Given the description of an element on the screen output the (x, y) to click on. 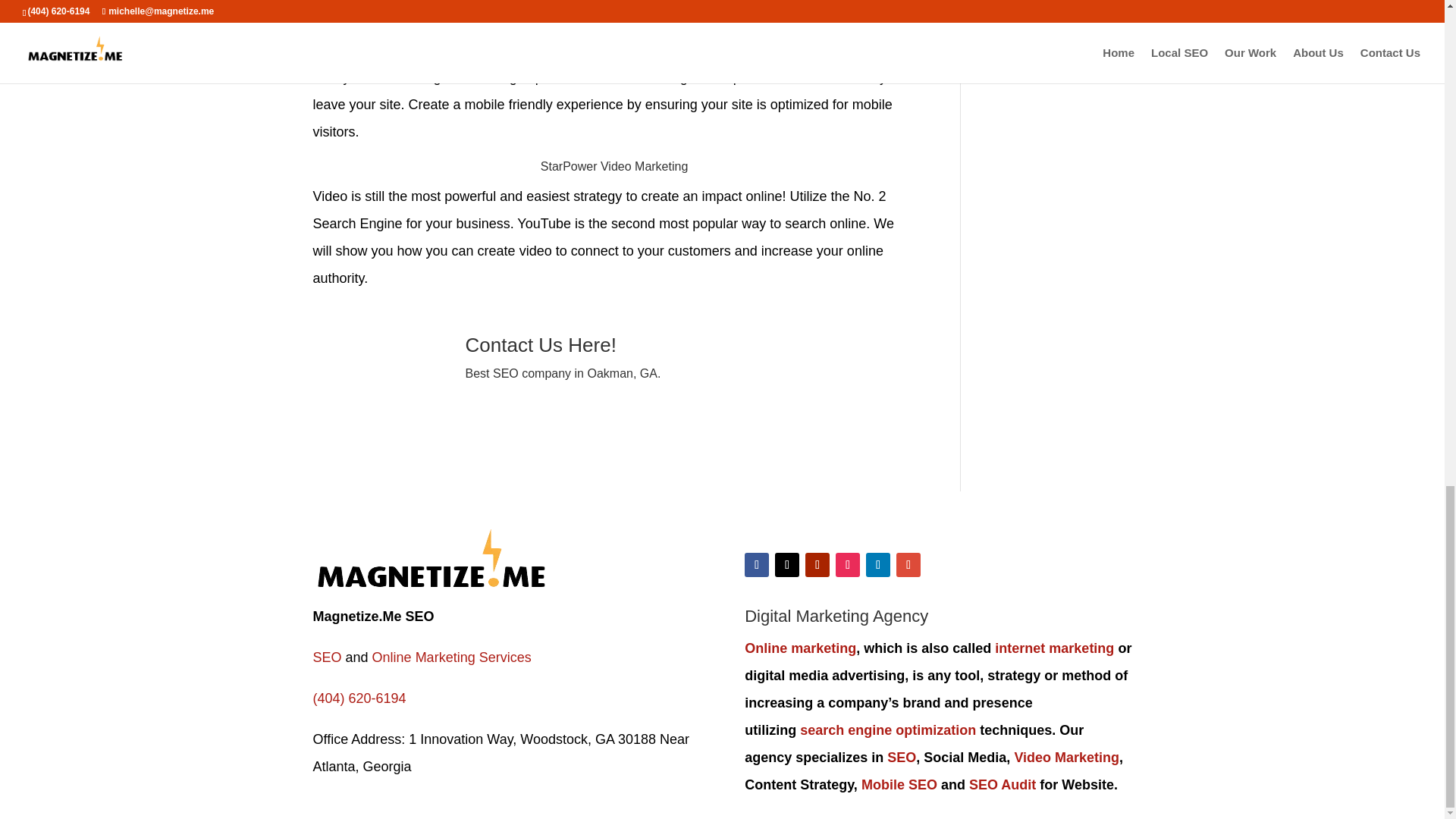
SEO Audit (1002, 784)
SEO (326, 657)
Video Marketing (1066, 757)
SEO (900, 757)
Follow on Instagram (847, 564)
Follow on LinkedIn (877, 564)
Follow on Youtube (817, 564)
Follow on google-plus (908, 564)
Mobile SEO (899, 784)
internet marketing (1053, 648)
search engine optimization (887, 729)
Follow on Facebook (756, 564)
 Online Marketing Services (449, 657)
Online marketing (800, 648)
Follow on X (786, 564)
